Given the description of an element on the screen output the (x, y) to click on. 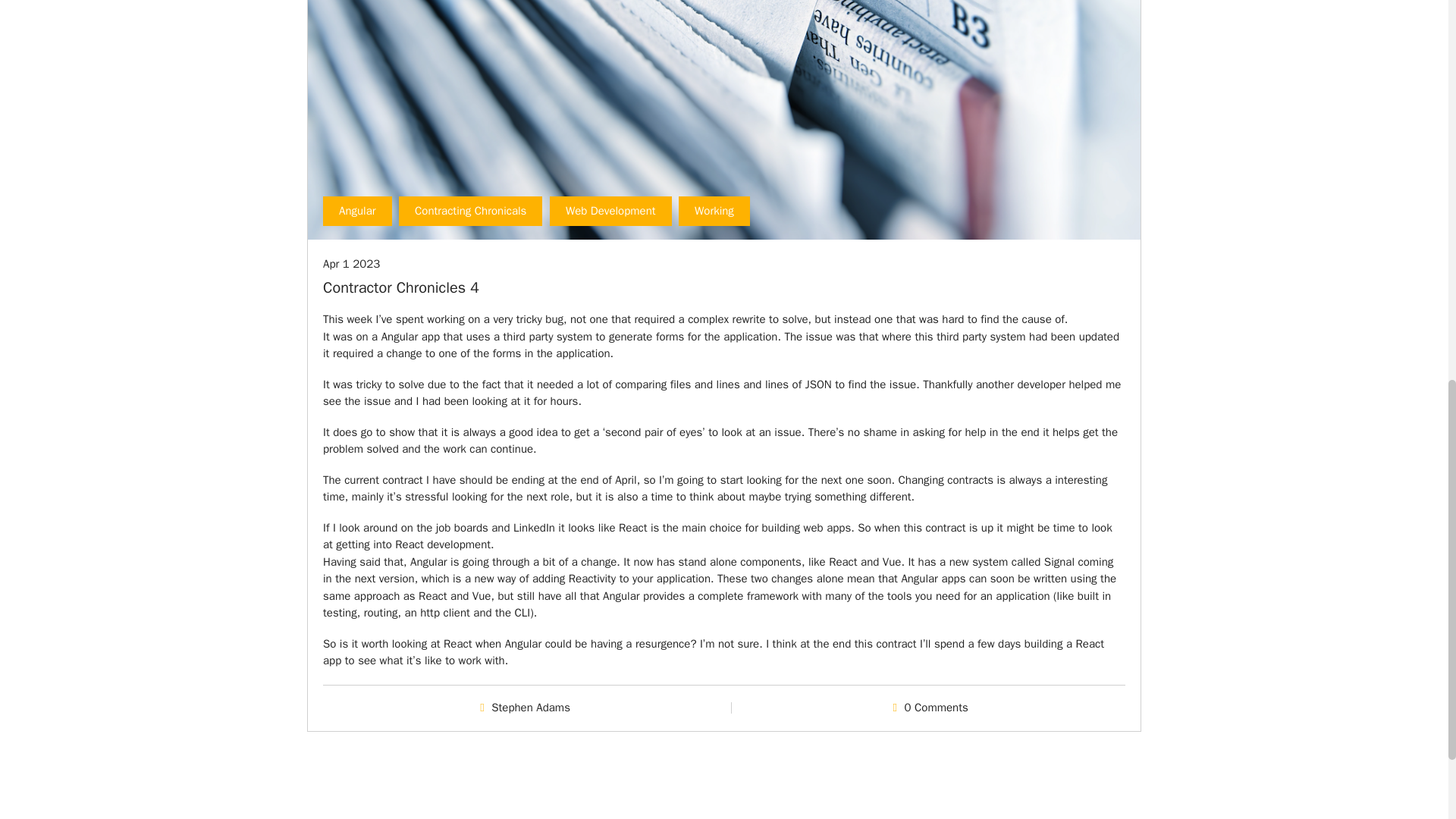
Stephen Adams (531, 707)
Contracting Chronicals (469, 211)
Working (713, 211)
0 Comments (936, 707)
Web Development (610, 211)
Apr 1 2023 (351, 264)
Angular (357, 211)
